Given the description of an element on the screen output the (x, y) to click on. 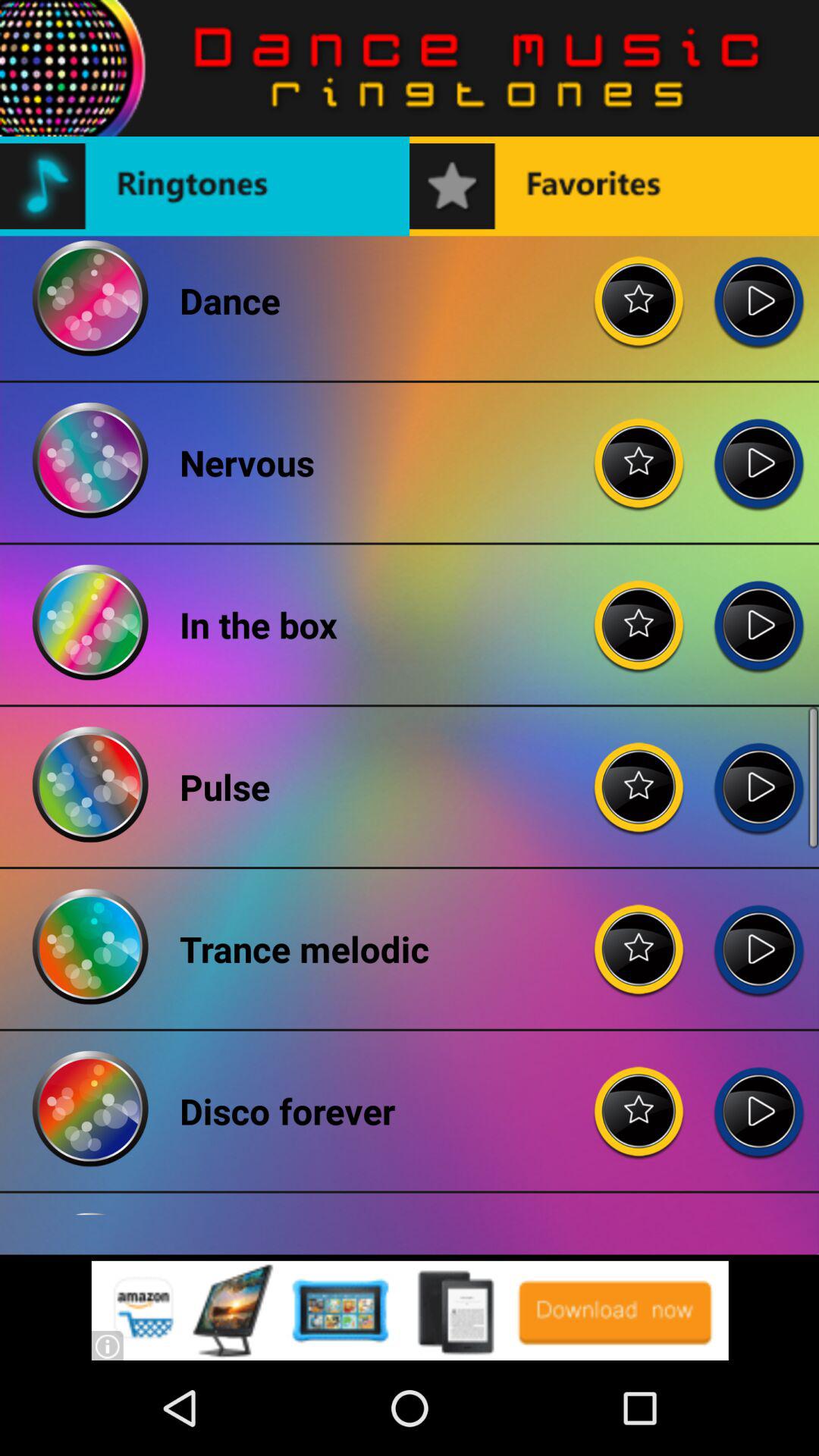
play ringtone (758, 613)
